Given the description of an element on the screen output the (x, y) to click on. 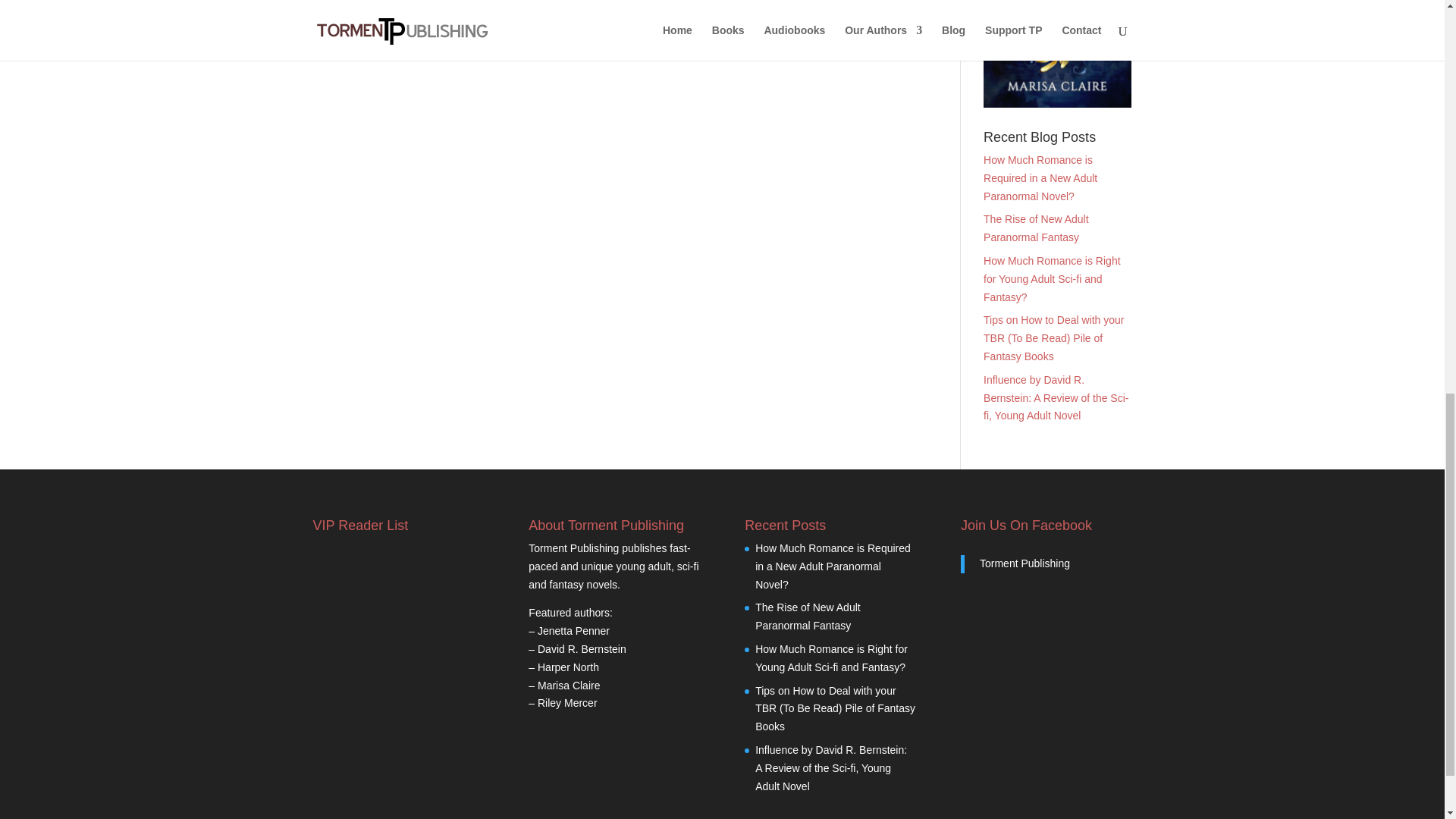
The Rise of New Adult Paranormal Fantasy (1036, 227)
The Rise of New Adult Paranormal Fantasy (807, 616)
